Given the description of an element on the screen output the (x, y) to click on. 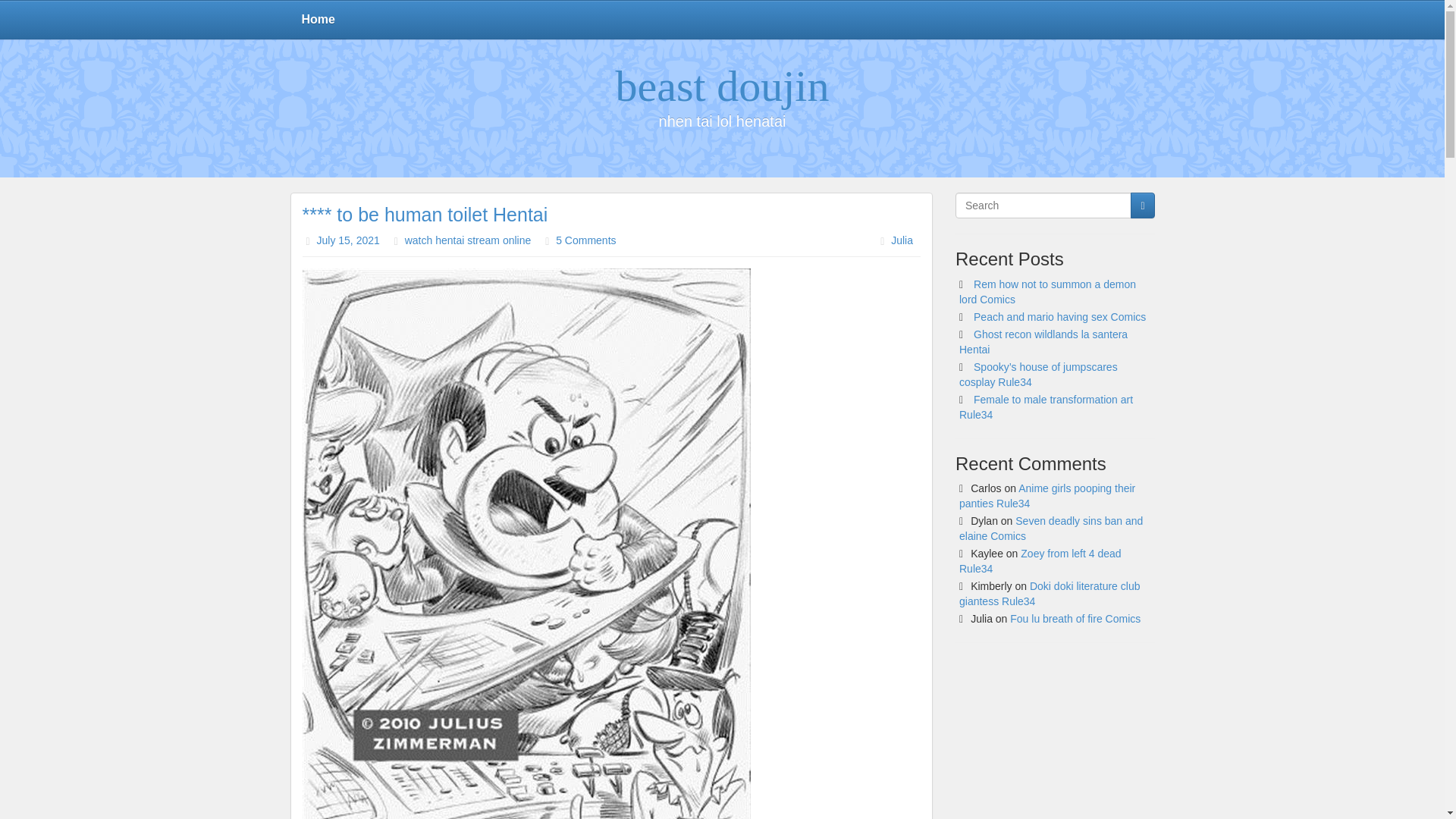
Female to male transformation art Rule34 (1045, 406)
watch hentai stream online (467, 240)
beast doujin (722, 85)
Peach and mario having sex Comics (1059, 316)
Ghost recon wildlands la santera Hentai (1042, 341)
Seven deadly sins ban and elaine Comics (1050, 528)
Fou lu breath of fire Comics (1075, 618)
Zoey from left 4 dead Rule34 (1040, 560)
beast doujin (722, 85)
Posts by Julia (901, 240)
